Given the description of an element on the screen output the (x, y) to click on. 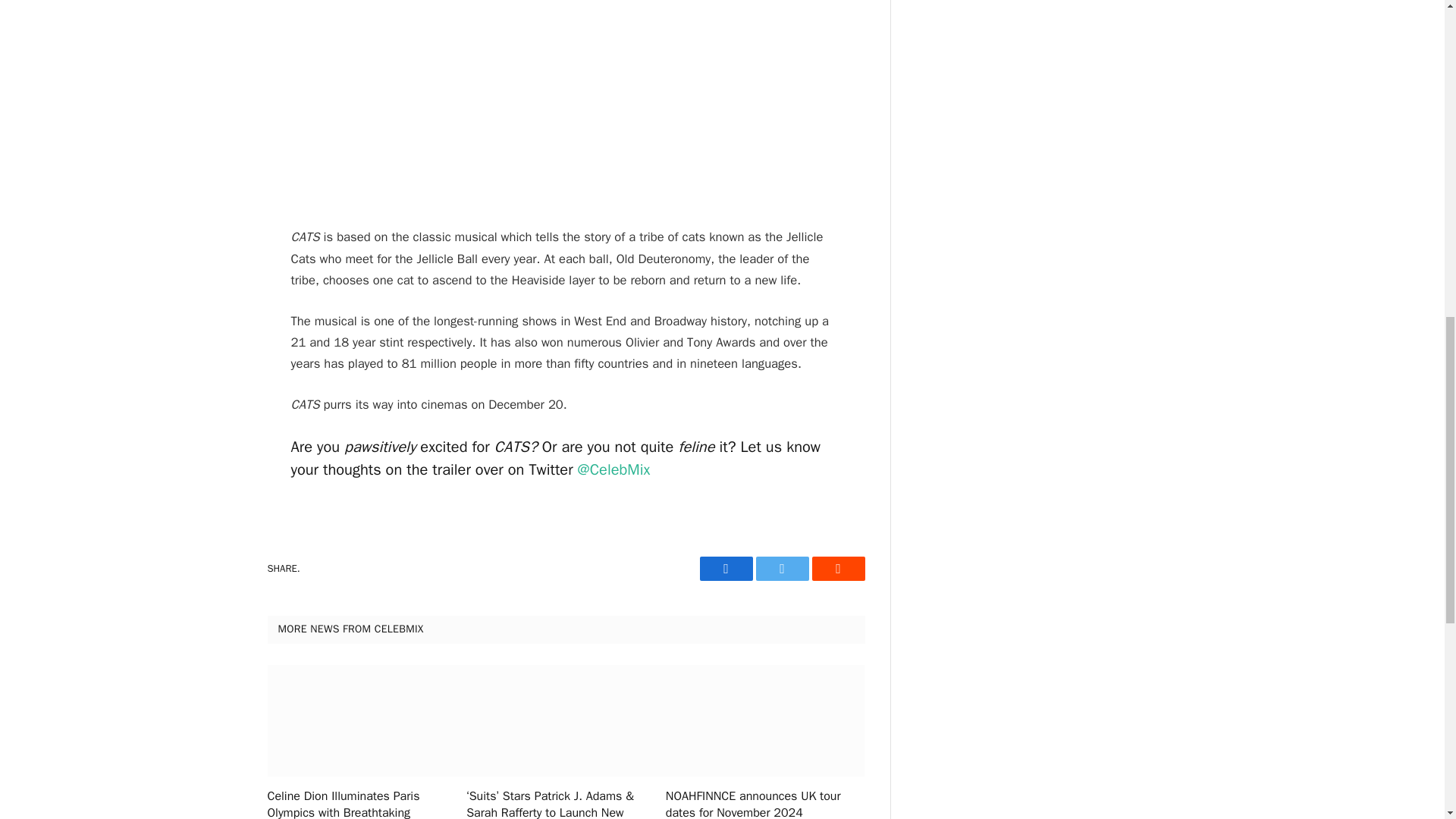
Share on Facebook (725, 568)
Reddit (837, 568)
Twitter (781, 568)
Facebook (725, 568)
NOAHFINNCE announces UK tour dates for November 2024 (764, 803)
